Given the description of an element on the screen output the (x, y) to click on. 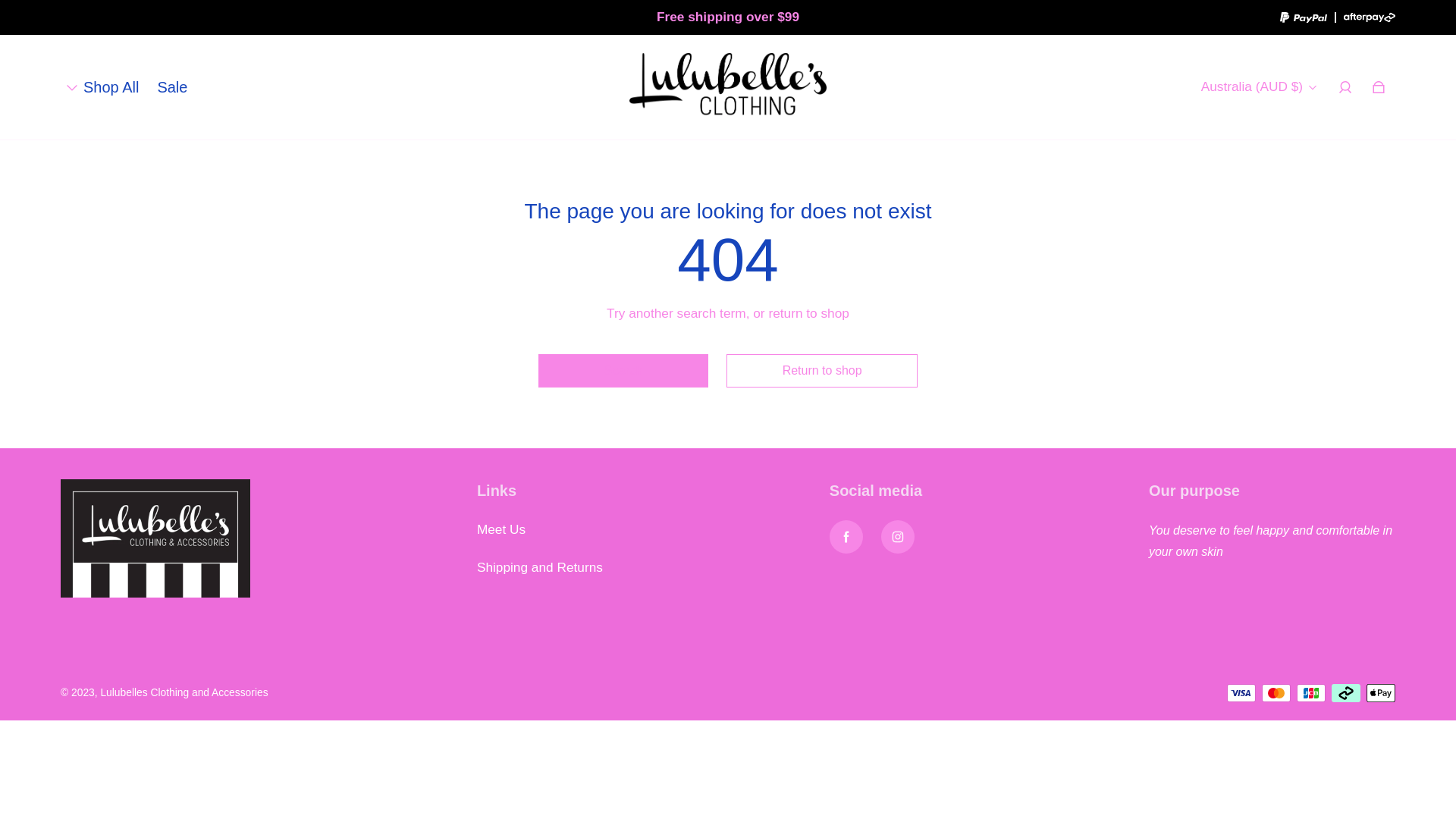
Meet Us Element type: text (500, 529)
Shop All Element type: text (110, 86)
Search Element type: text (623, 370)
Return to shop Element type: text (821, 370)
Lulubelles Clothing and Accessories Element type: text (183, 692)
Sale Element type: text (171, 86)
Free shipping over $99 Element type: text (727, 17)
Australia (AUD $) Element type: text (1258, 87)
Shipping and Returns Element type: text (539, 567)
